Given the description of an element on the screen output the (x, y) to click on. 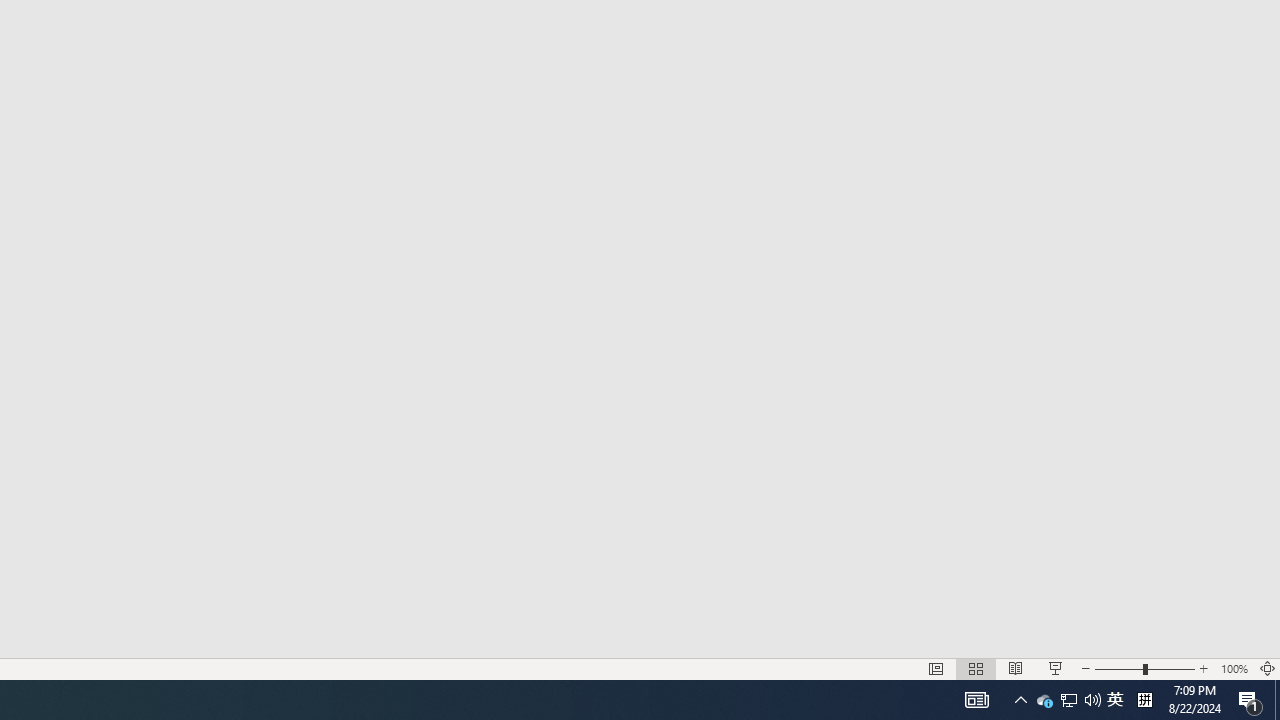
Zoom In (1204, 668)
Reading View (1015, 668)
Zoom Out (1118, 668)
Zoom (1144, 668)
Zoom 100% (1234, 668)
Slide Sorter (975, 668)
Slide Show (1055, 668)
Zoom to Fit  (1267, 668)
Normal (936, 668)
